Given the description of an element on the screen output the (x, y) to click on. 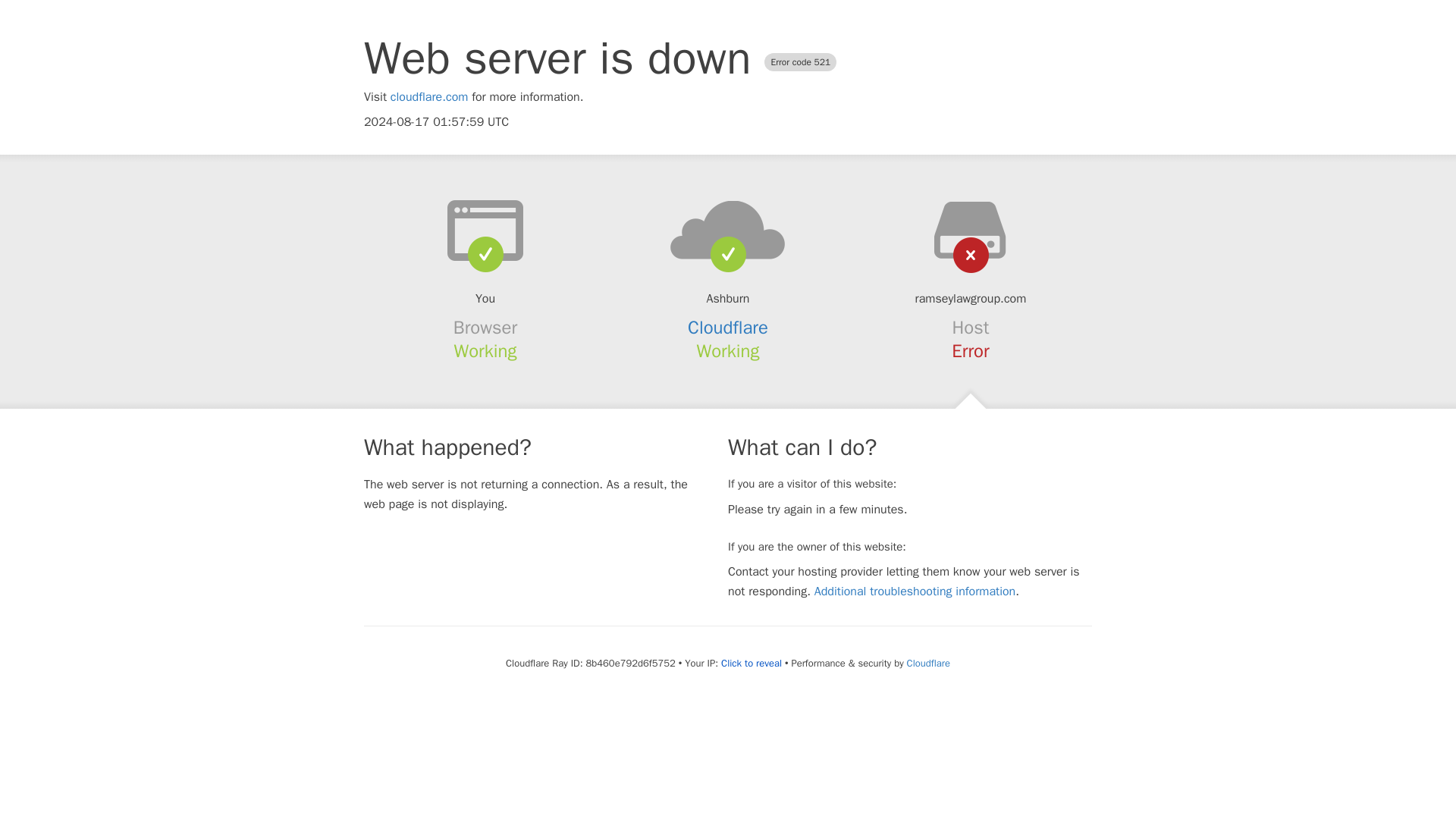
Cloudflare (727, 327)
Click to reveal (750, 663)
cloudflare.com (429, 96)
Cloudflare (928, 662)
Additional troubleshooting information (913, 590)
